Given the description of an element on the screen output the (x, y) to click on. 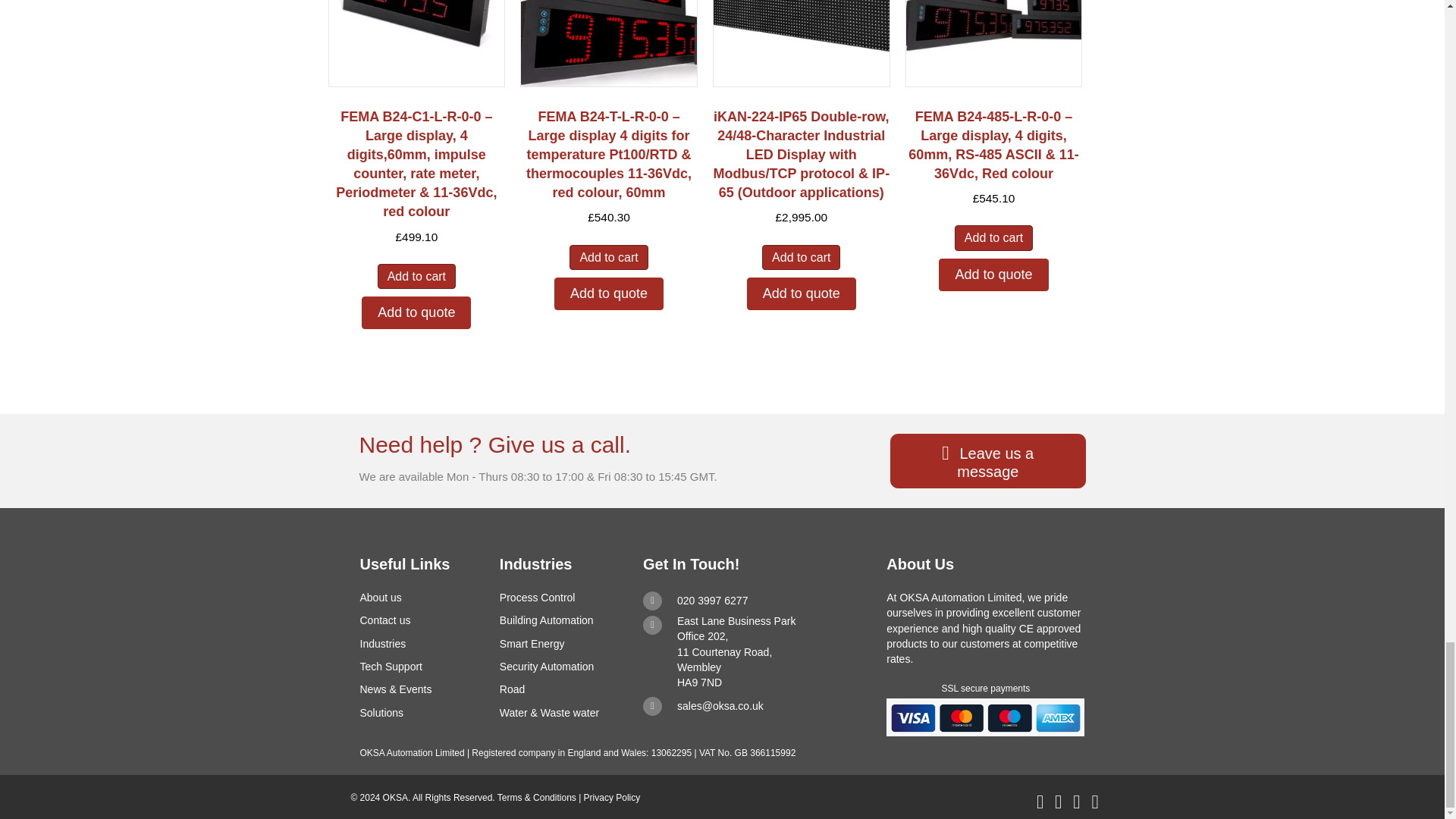
Modern-Payment-Method-Icons-Pack (985, 717)
